Given the description of an element on the screen output the (x, y) to click on. 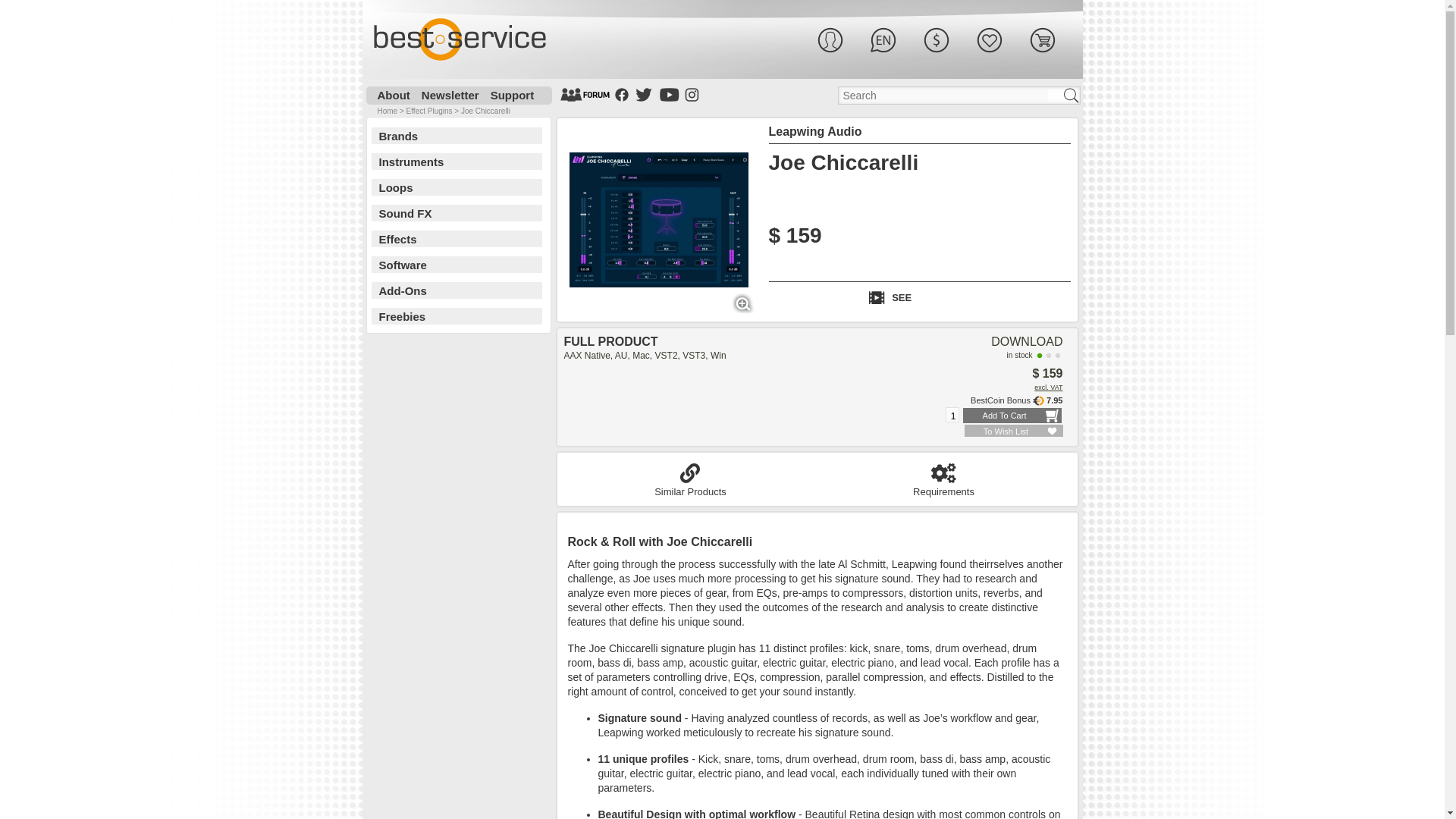
Twitter (643, 94)
YouTube (668, 94)
Instagram (691, 94)
KVR Forum (584, 94)
Facebook (621, 94)
1 (952, 416)
